Given the description of an element on the screen output the (x, y) to click on. 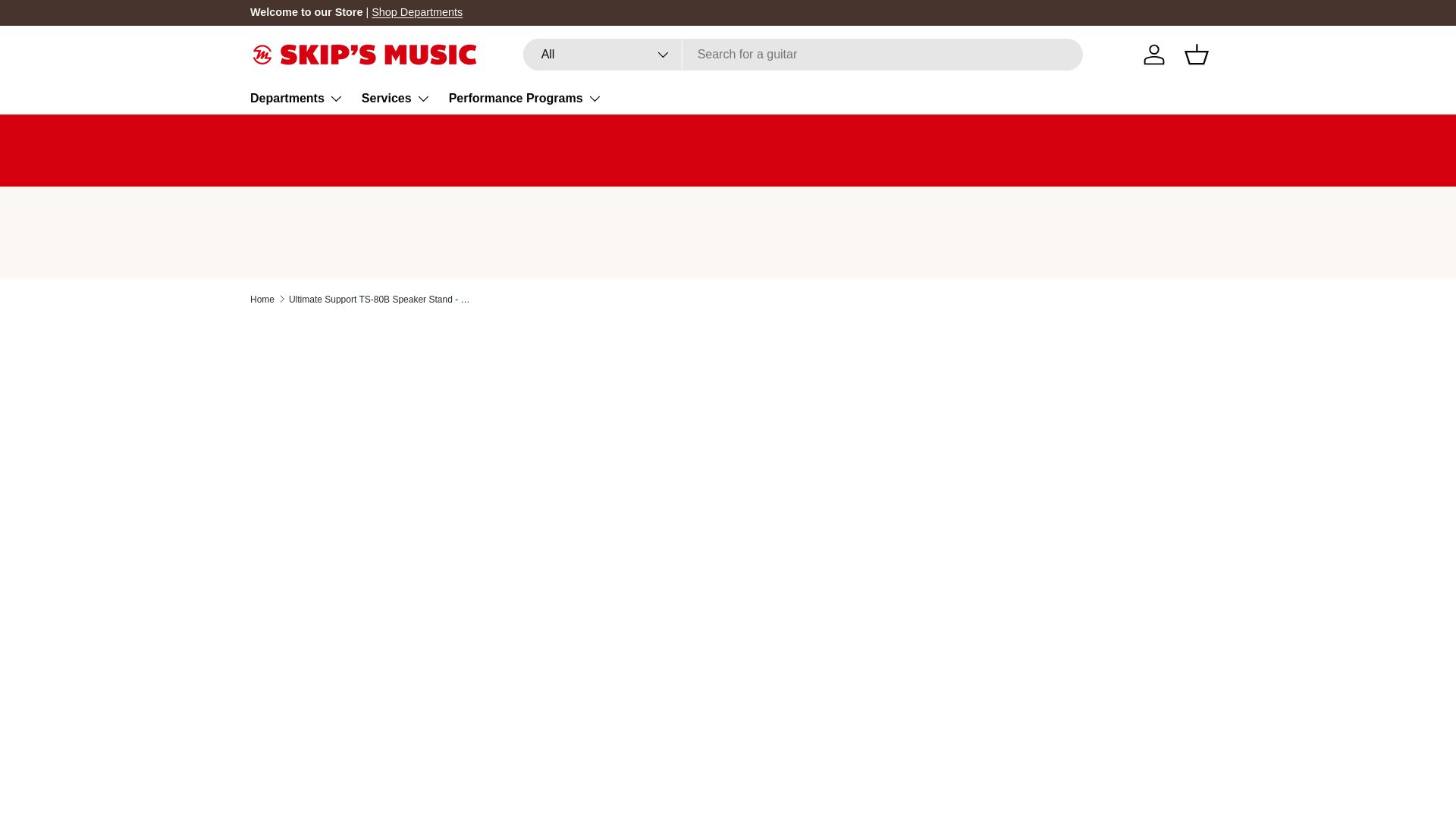
Gift Card (1345, 11)
Basket (1195, 54)
Log in (1153, 54)
Skip to content (69, 21)
All collections (417, 11)
Services (395, 98)
All (602, 54)
Grab a Gift Card! (1345, 11)
Departments (296, 98)
Shop Departments (417, 11)
